Given the description of an element on the screen output the (x, y) to click on. 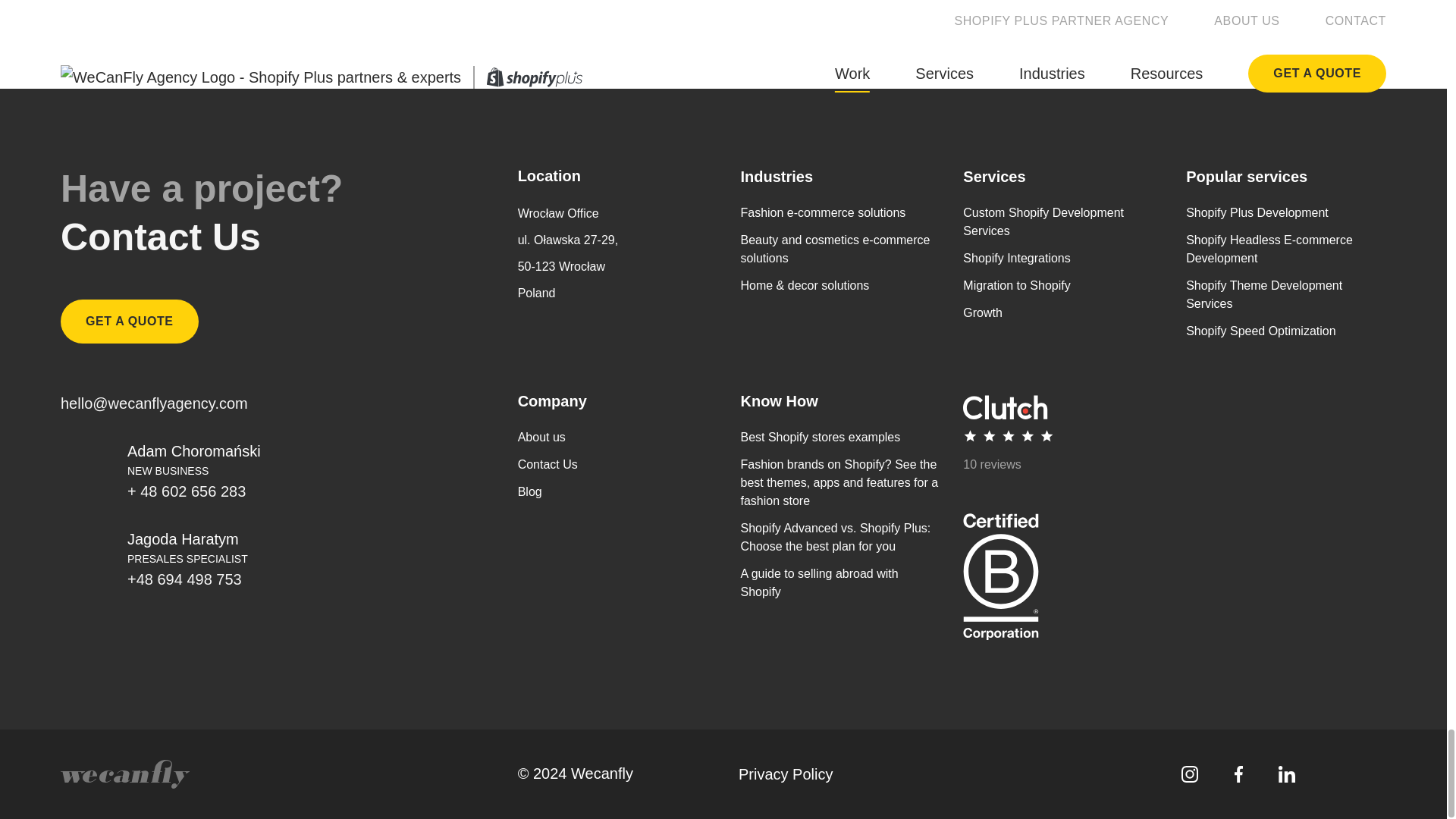
Best Shopify stores examples (819, 436)
Blog (529, 491)
Shopify Integrations (1016, 257)
Shopify Theme Development Services (1264, 294)
A guide to selling abroad with Shopify (818, 582)
Growth (982, 312)
Migration to Shopify (1016, 285)
About us (542, 436)
Shopify Plus Development (1256, 212)
Contact Us (548, 463)
Custom Shopify Development Services (1043, 221)
Shopify Headless E-commerce Development (1269, 248)
Fashion e-commerce solutions (822, 212)
